Given the description of an element on the screen output the (x, y) to click on. 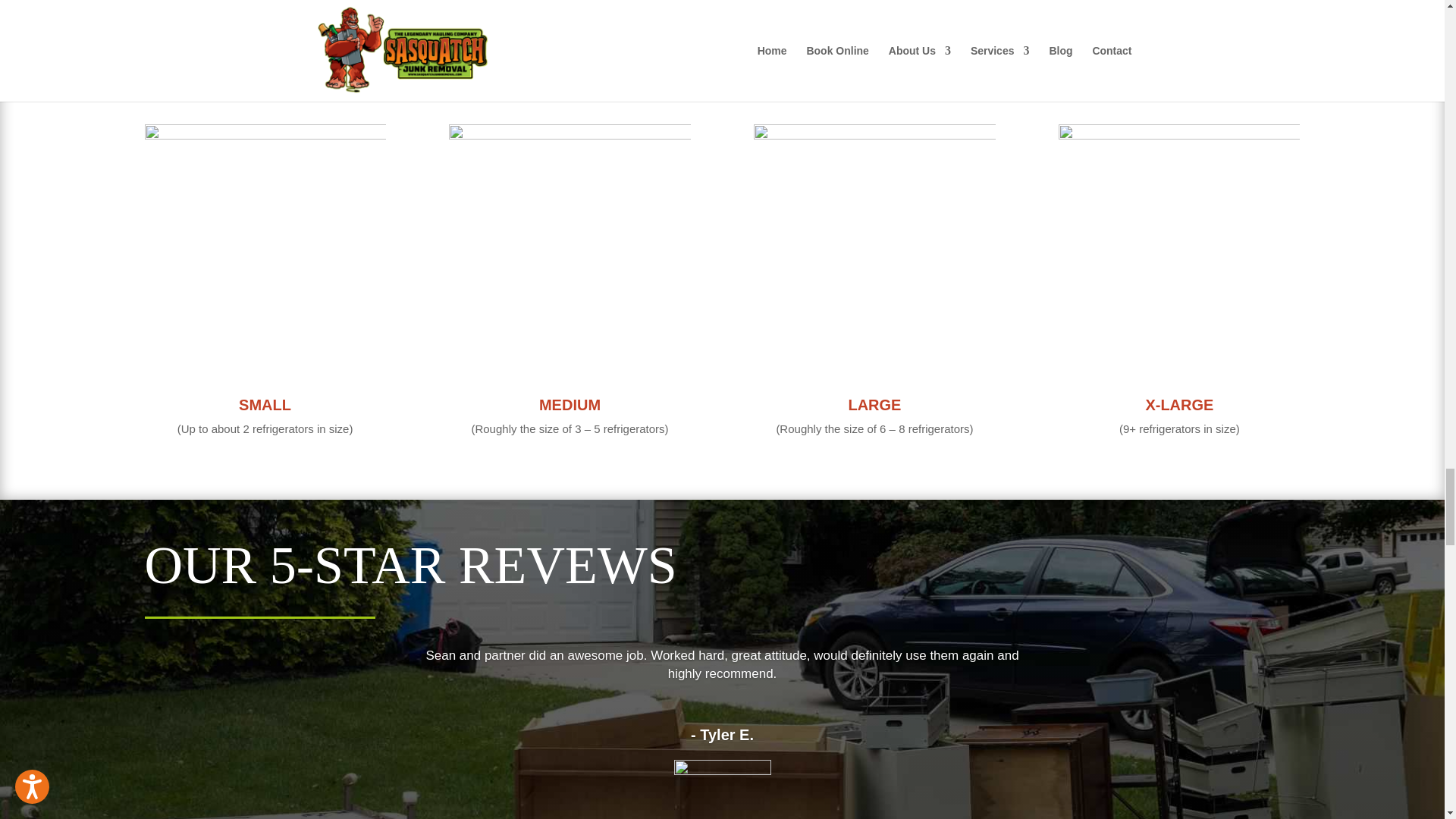
x-large-orange (1179, 244)
small-orange (264, 244)
large-orange (874, 244)
medium-orange (569, 244)
Appliance Removal In Sultan, WA 1 (721, 769)
